Given the description of an element on the screen output the (x, y) to click on. 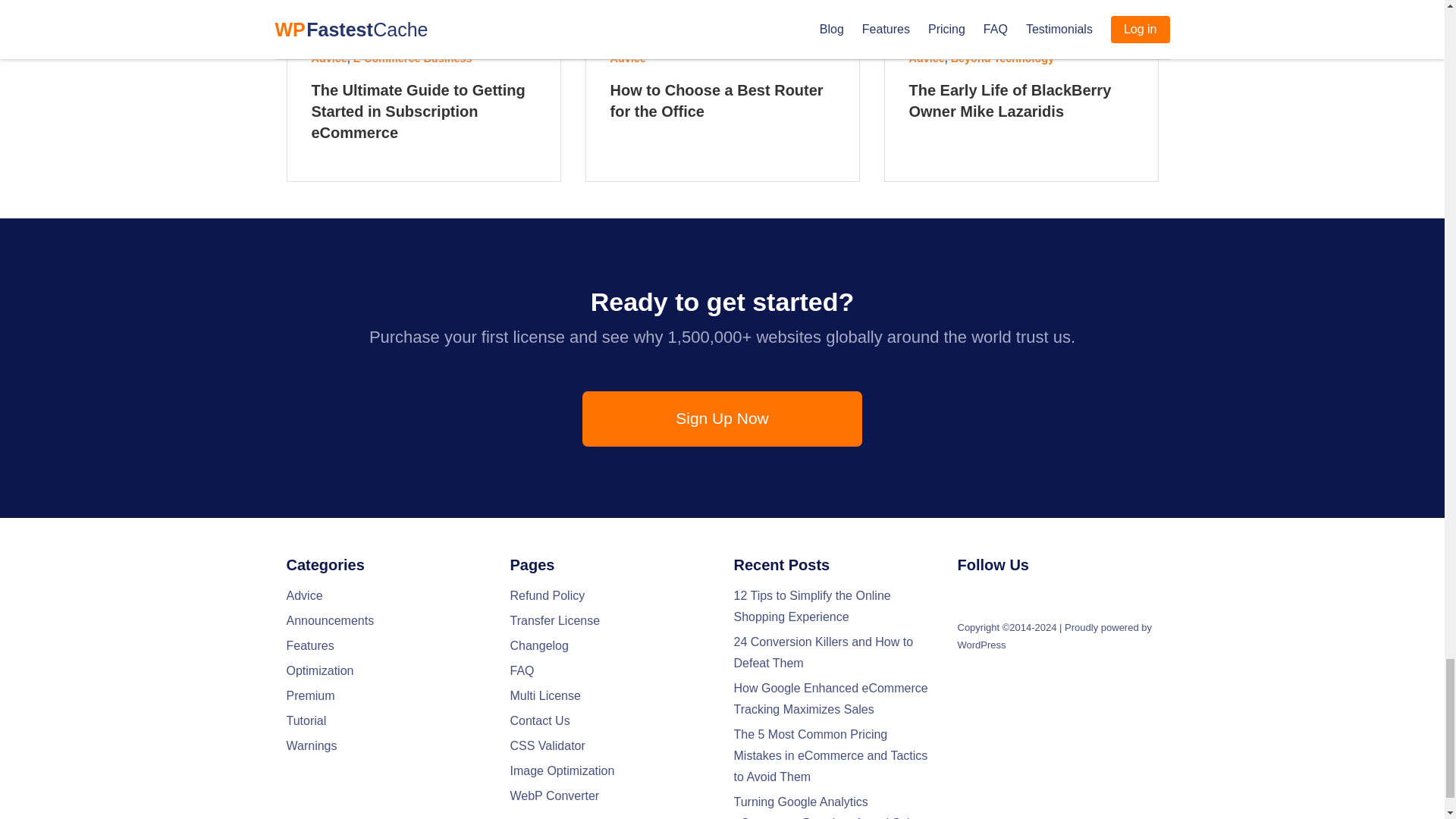
Advice (627, 58)
E-Commerce Business (412, 58)
Advice (328, 58)
Beyond Technology (1002, 58)
Advice (925, 58)
How to Choose a Best Router for the Office (722, 102)
